Given the description of an element on the screen output the (x, y) to click on. 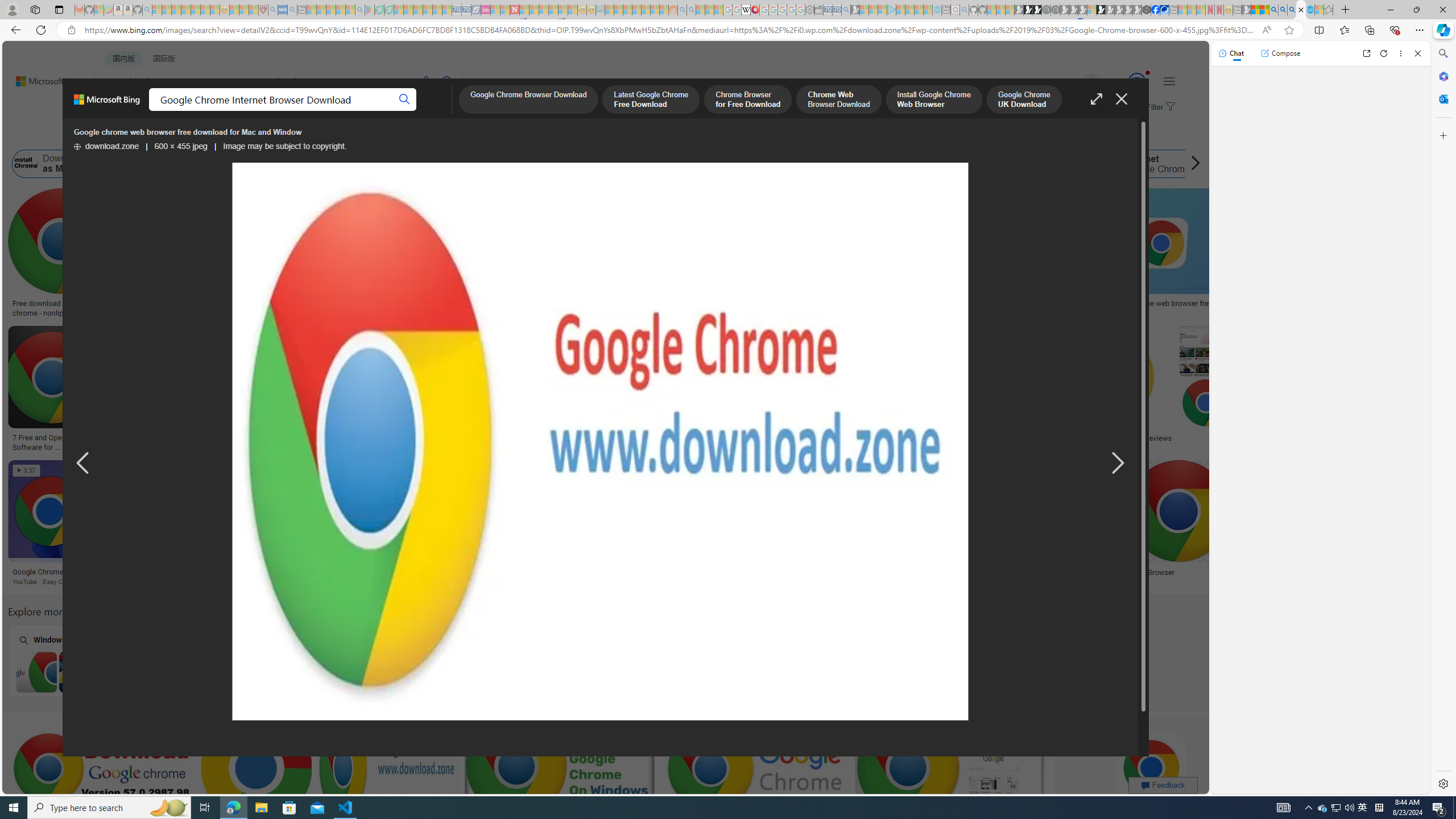
Free download google chrome - nonlipatSave (62, 254)
Google Chrome Fast Download (1035, 163)
Google.com Chrome Download (735, 163)
Windows 10 (515, 660)
Google Chrome Review | Top Ten Reviews (1103, 437)
Internet Explorer (224, 660)
